Given the description of an element on the screen output the (x, y) to click on. 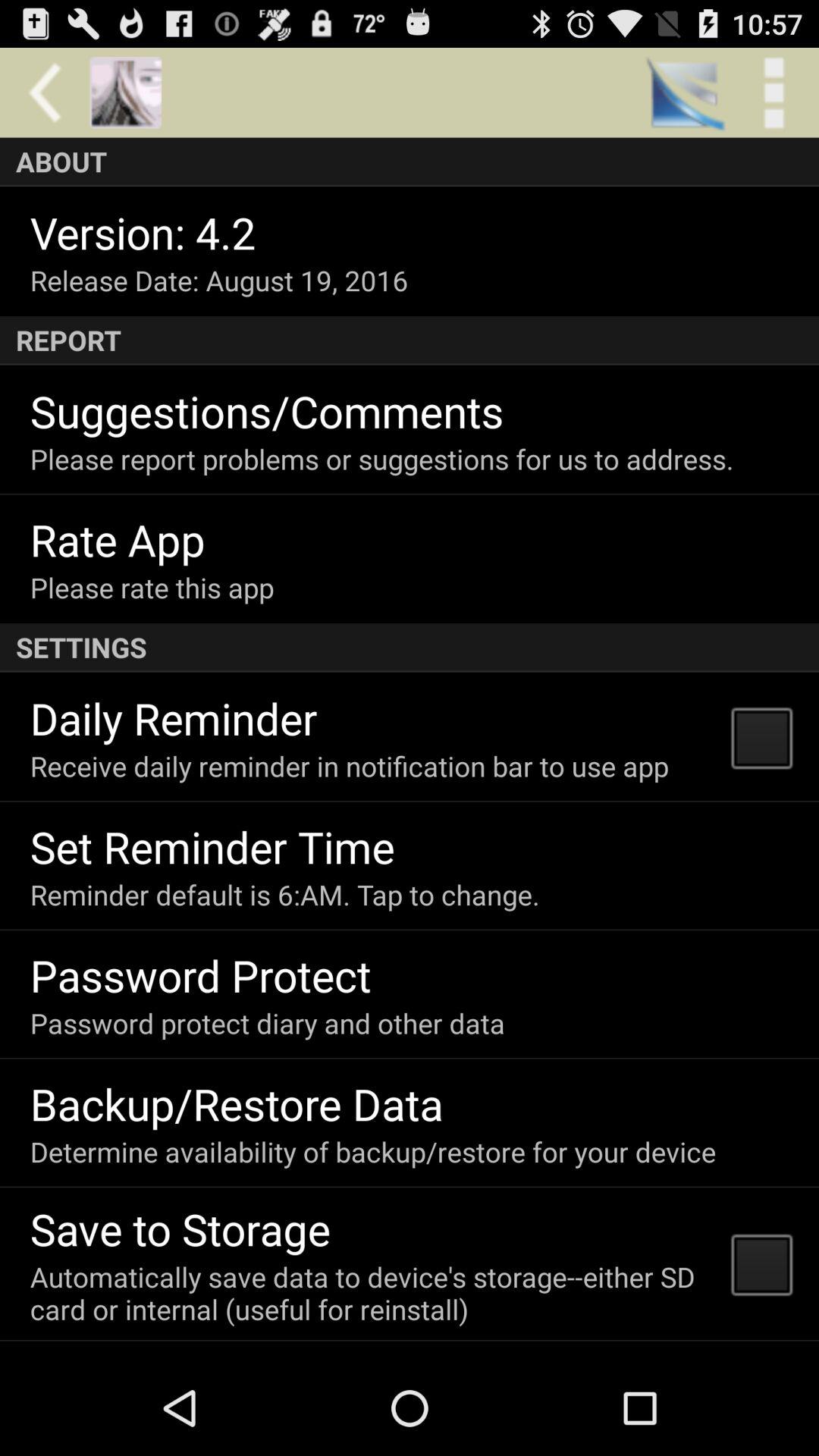
turn off please rate this (152, 587)
